Given the description of an element on the screen output the (x, y) to click on. 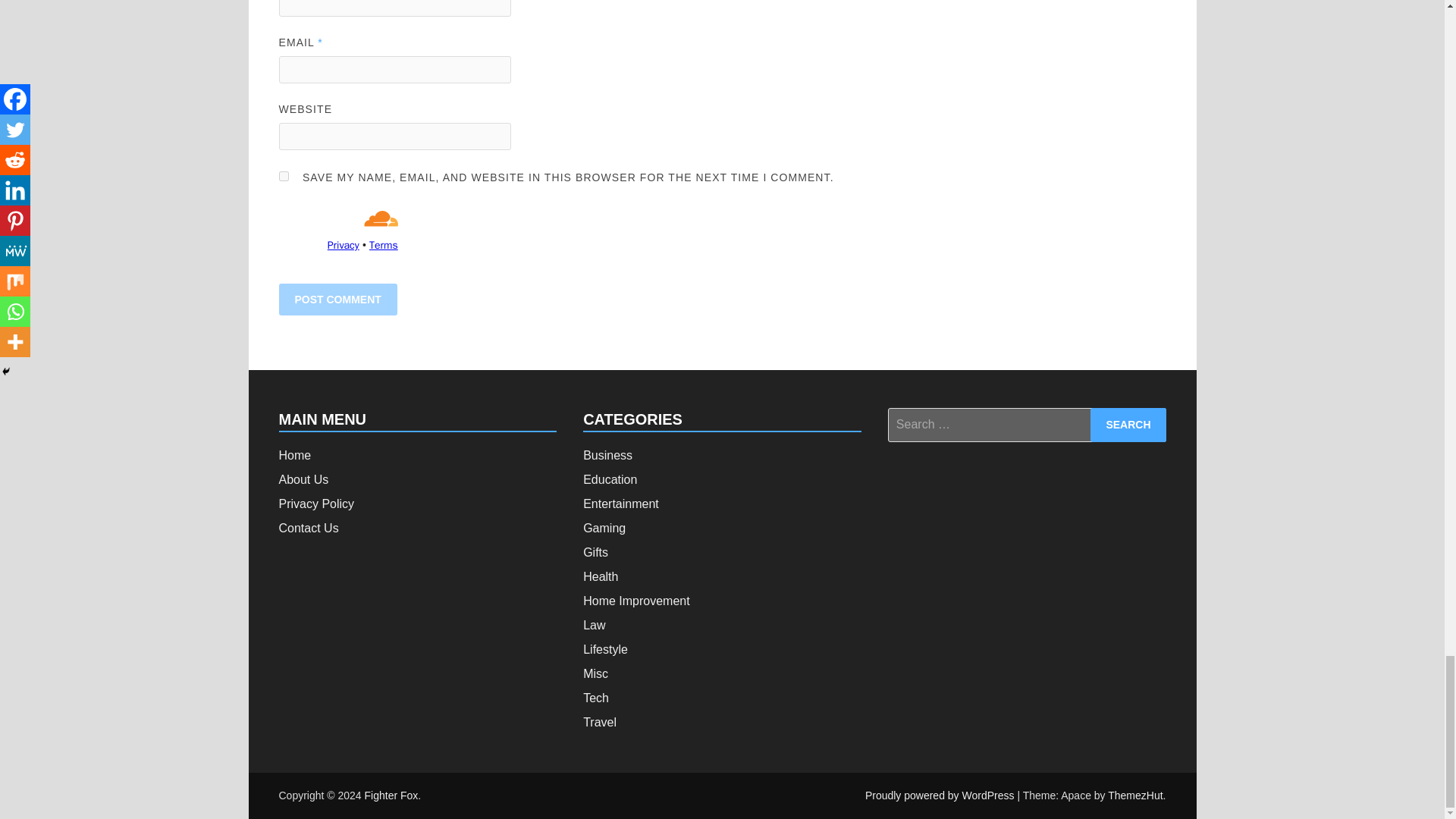
yes (283, 175)
Search (1128, 424)
Post Comment (338, 299)
Search (1128, 424)
